Given the description of an element on the screen output the (x, y) to click on. 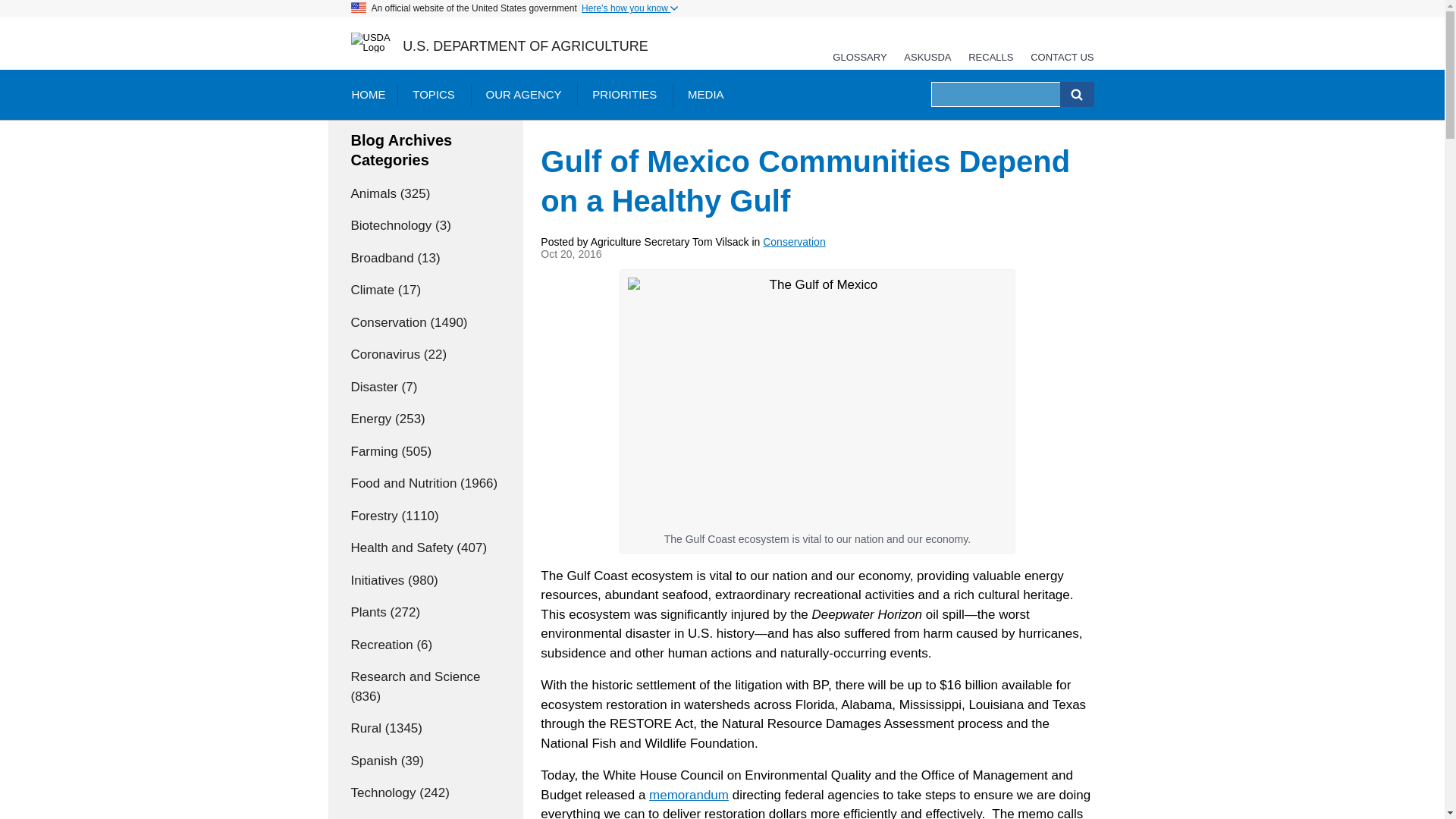
OUR AGENCY (523, 94)
TOPICS (433, 94)
Home (525, 46)
Home (370, 42)
PRIORITIES (623, 94)
HOME (367, 94)
U.S. DEPARTMENT OF AGRICULTURE (525, 46)
